Given the description of an element on the screen output the (x, y) to click on. 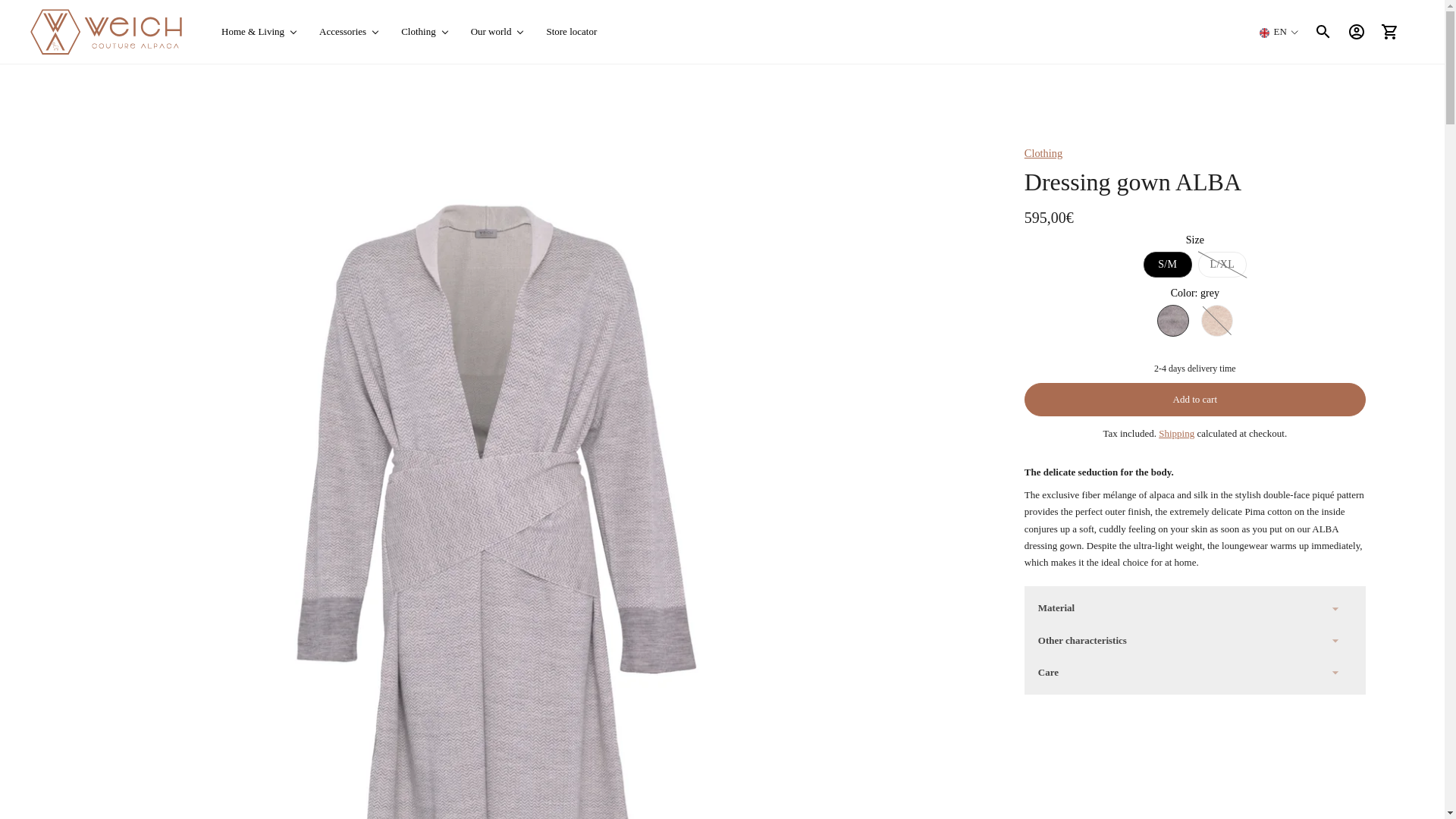
Search (1322, 31)
Account (1356, 31)
Clothing (424, 31)
Cart (1389, 31)
Accessories (348, 31)
